Given the description of an element on the screen output the (x, y) to click on. 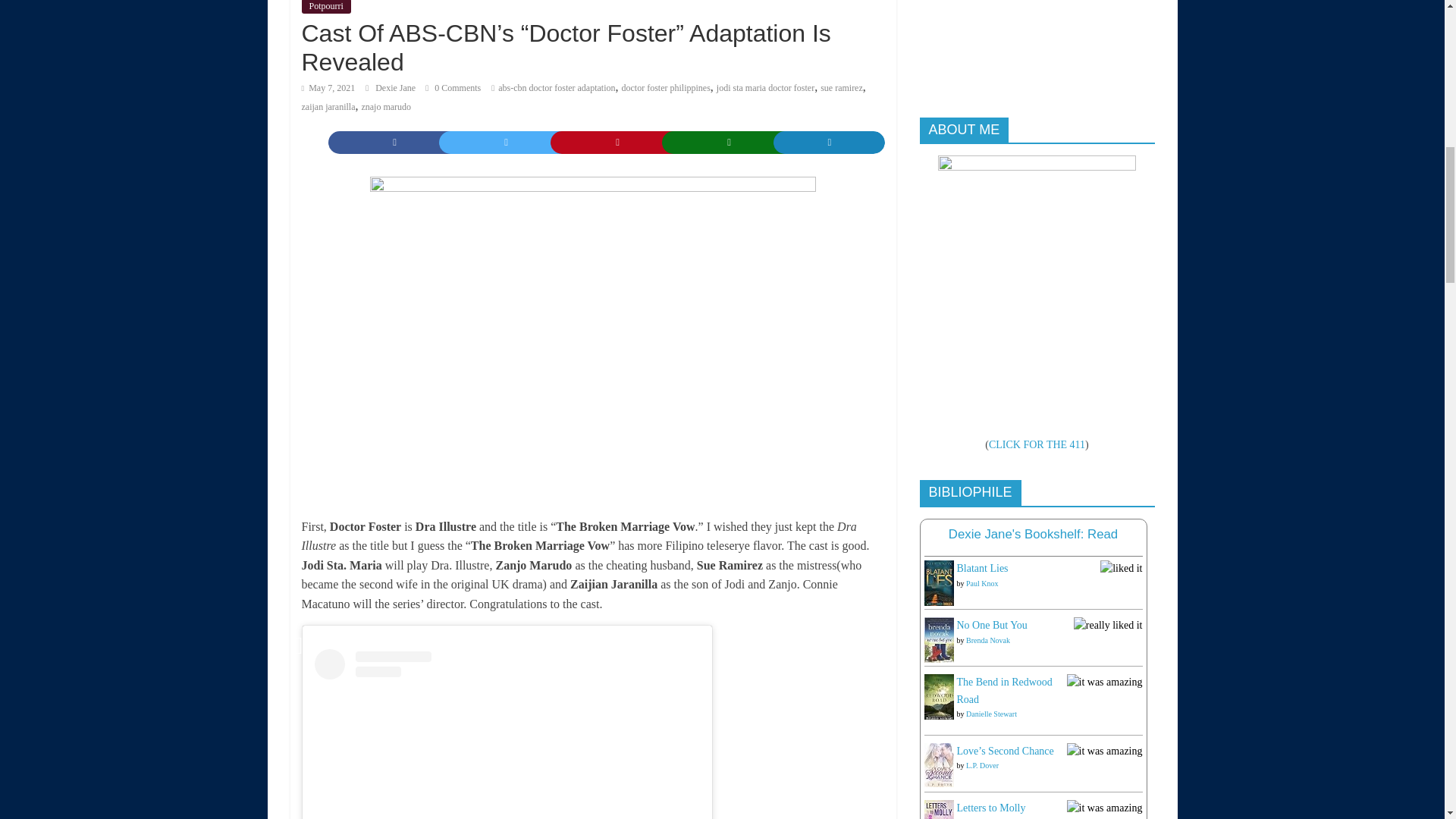
abs-cbn doctor foster adaptation (555, 87)
doctor foster philippines (665, 87)
0 Comments (452, 87)
znajo marudo (385, 106)
Dexie Jane (396, 87)
jodi sta maria doctor foster (764, 87)
sue ramirez (842, 87)
View this post on Instagram (506, 734)
6:52 am (328, 87)
Dexie Jane (396, 87)
